Given the description of an element on the screen output the (x, y) to click on. 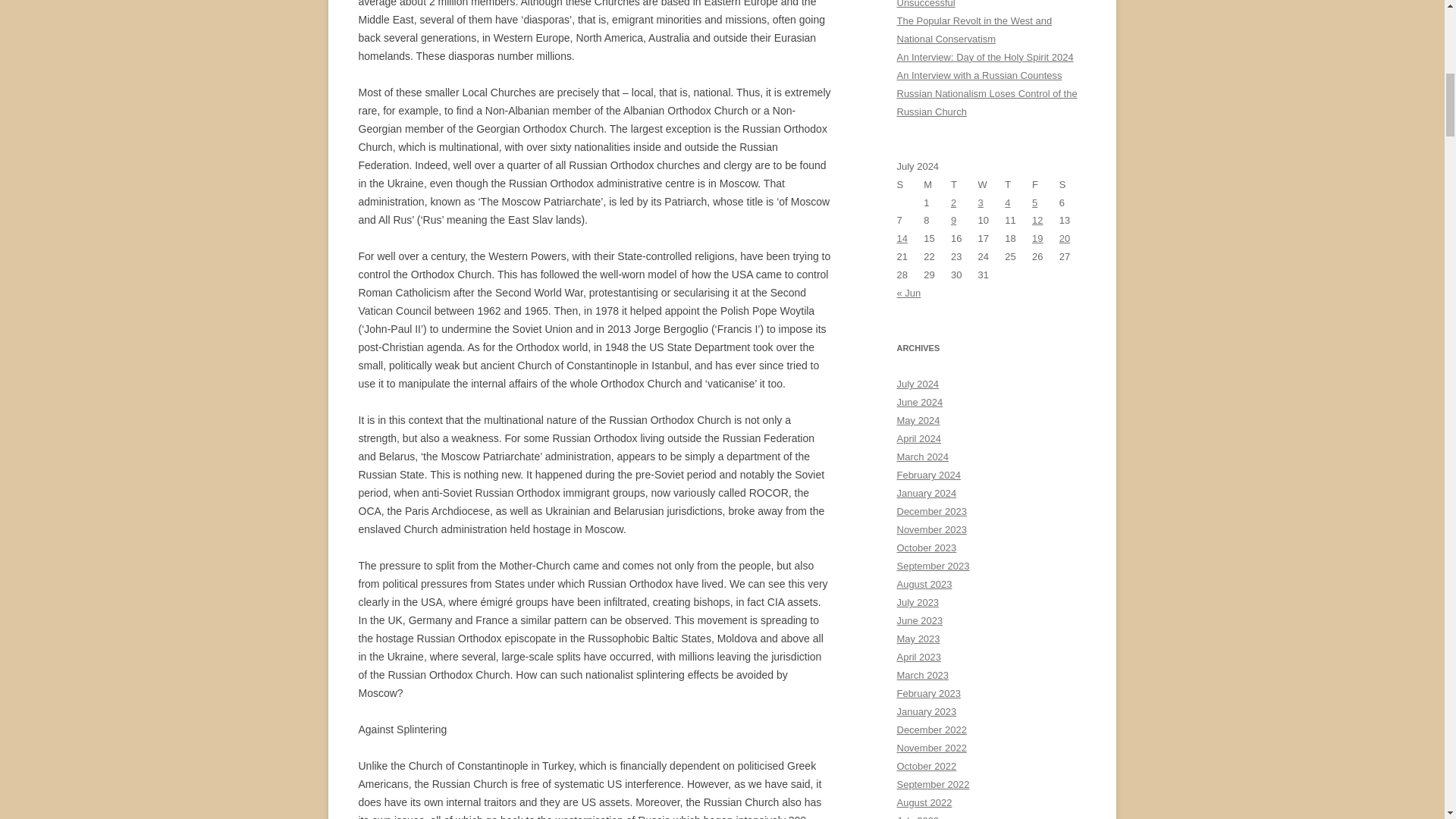
An Interview: Day of the Holy Spirit 2024 (984, 57)
Tuesday (964, 185)
Wednesday (992, 185)
Saturday (1072, 185)
Friday (1045, 185)
Thursday (1018, 185)
Russian Nationalism Loses Control of the Russian Church (986, 102)
Monday (936, 185)
Sunday (909, 185)
An Interview with a Russian Countess (978, 75)
The Popular Revolt in the West and National Conservatism (973, 30)
